Given the description of an element on the screen output the (x, y) to click on. 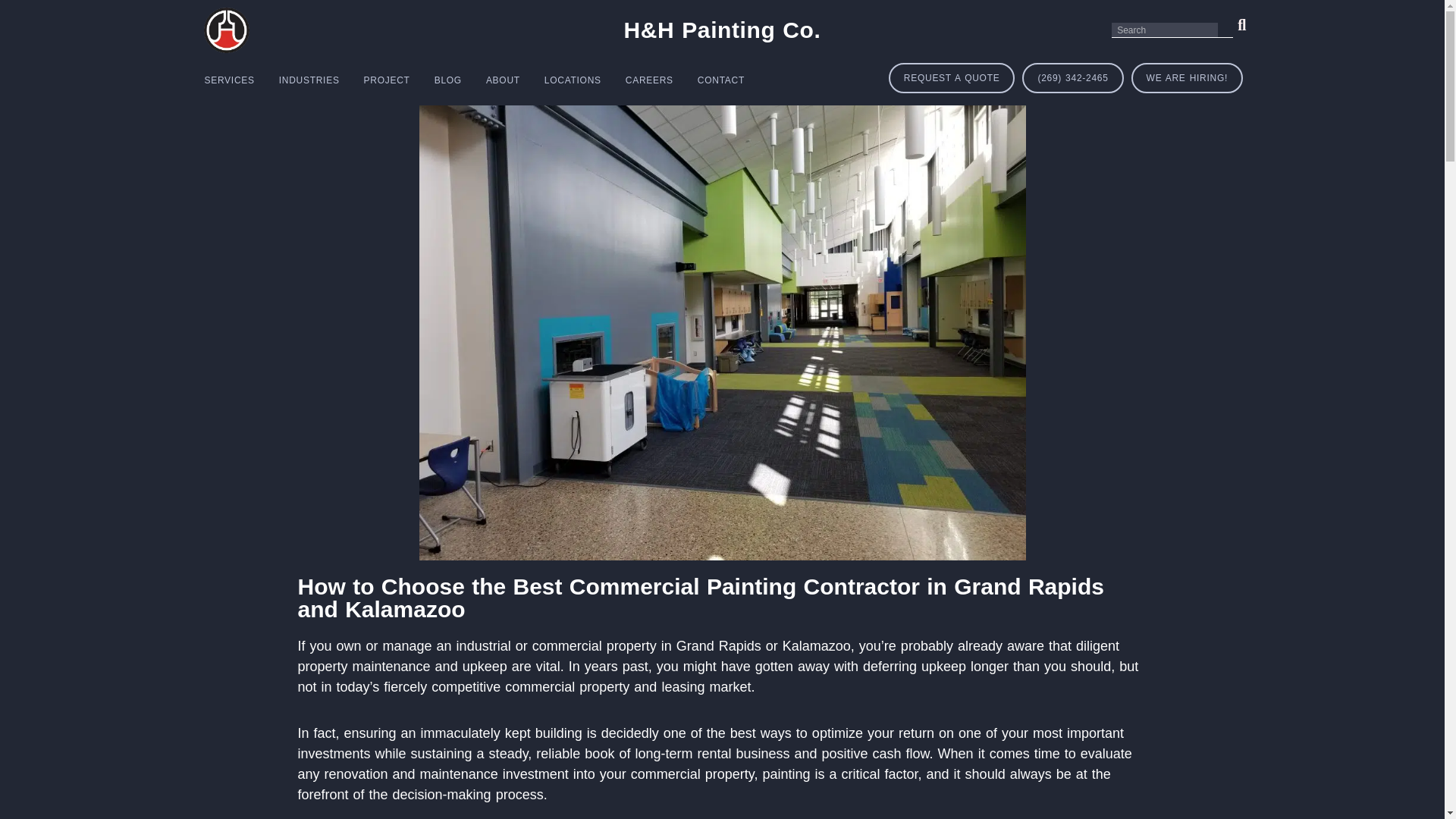
CAREERS (648, 80)
PROJECT (387, 80)
BLOG (448, 80)
SERVICES (229, 80)
ABOUT (503, 80)
LOCATIONS (572, 80)
INDUSTRIES (309, 80)
CONTACT (721, 80)
